Given the description of an element on the screen output the (x, y) to click on. 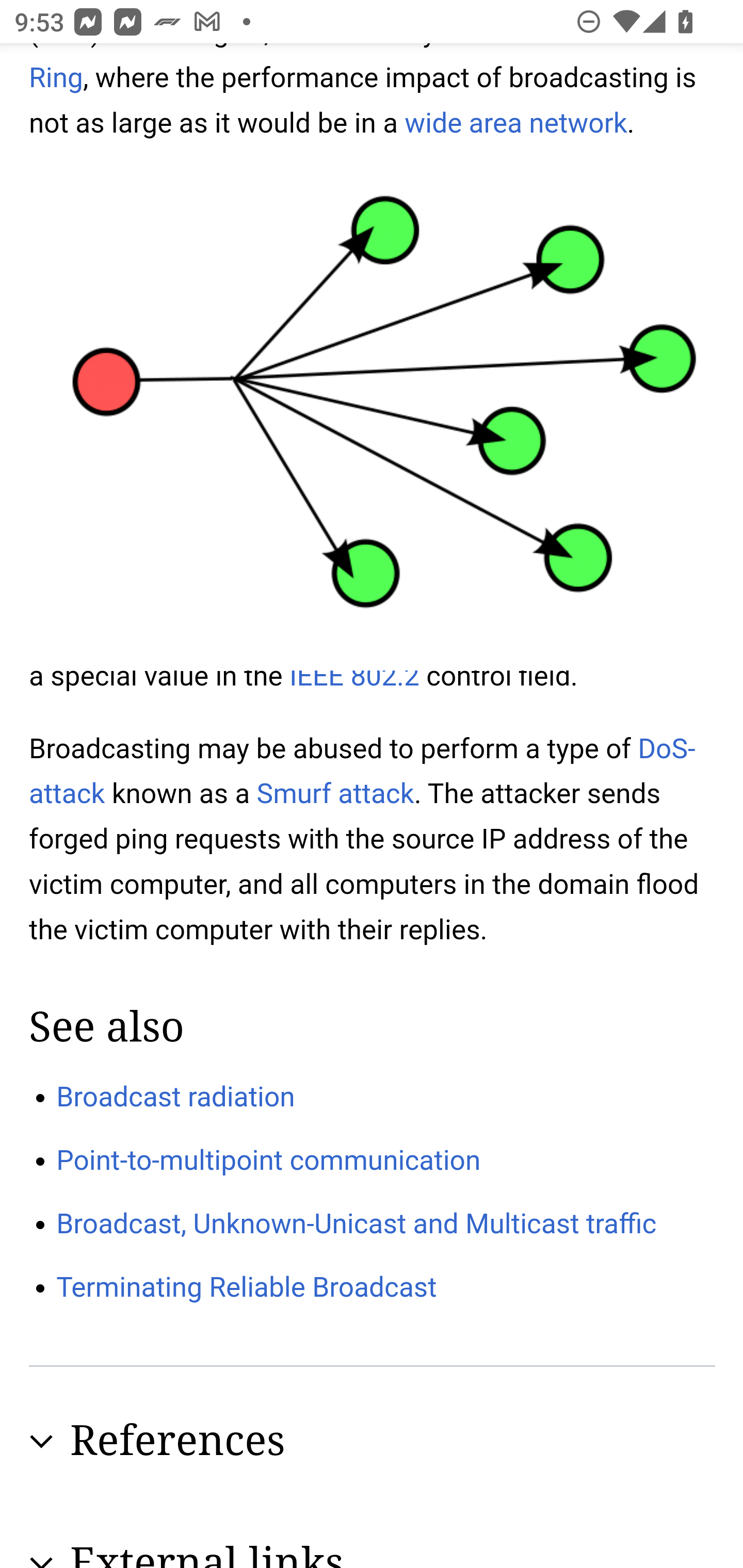
Token Ring (353, 69)
wide area network (516, 123)
Image: Broadcasting (networking) (371, 414)
DoS-attack (362, 770)
Smurf attack (335, 793)
Broadcast radiation (175, 1095)
Point-to-multipoint communication (268, 1160)
Broadcast, Unknown-Unicast and Multicast traffic (356, 1222)
Terminating Reliable Broadcast (246, 1287)
Expand section References (372, 1441)
Expand section (41, 1441)
Expand section (41, 1559)
